Given the description of an element on the screen output the (x, y) to click on. 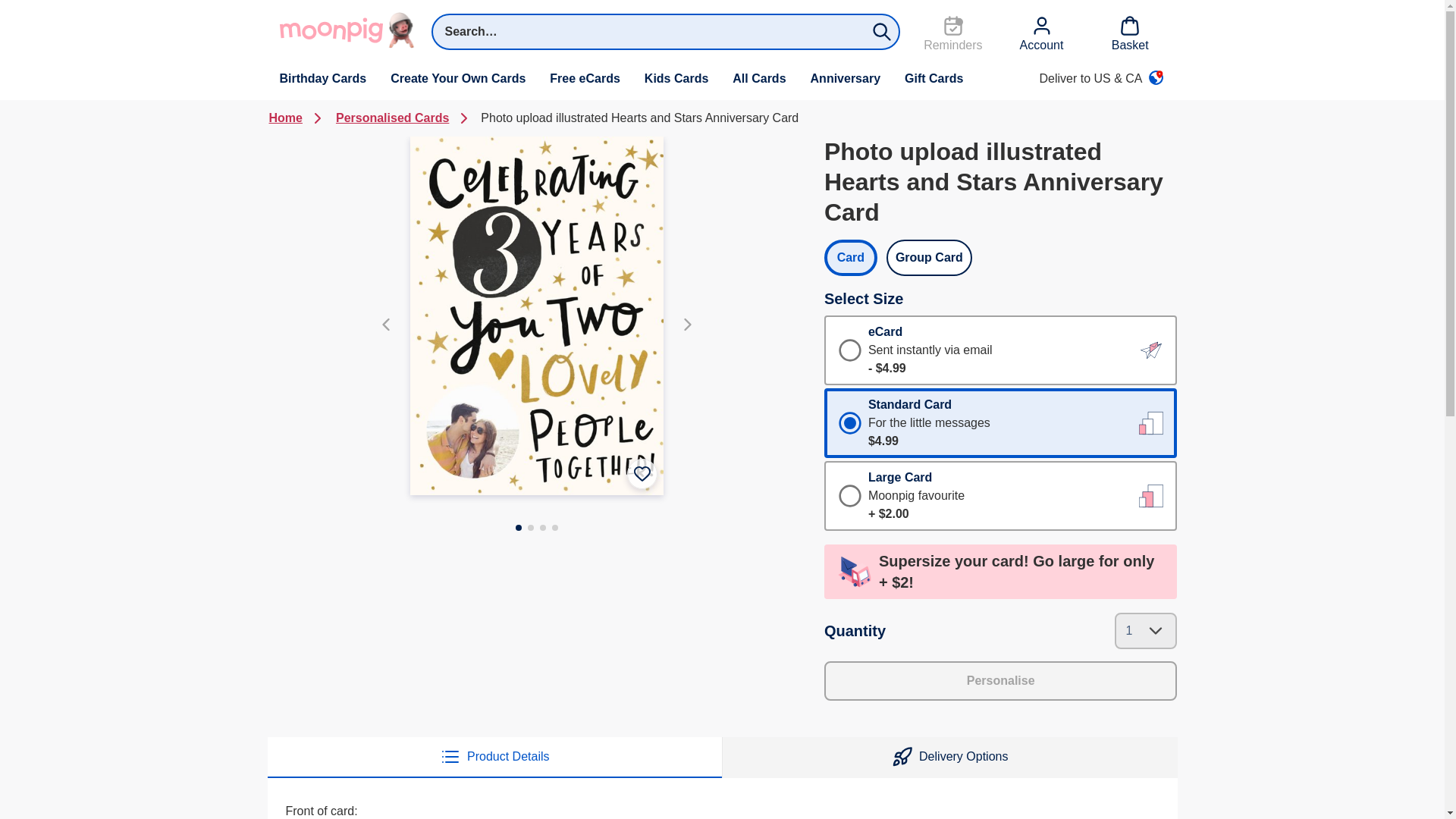
Open Birthday Cards dropdown (322, 78)
Reminders (952, 34)
Account (1041, 34)
5 (1000, 495)
Basket (1130, 34)
1 (1000, 423)
Go to Moonpig home (349, 30)
135 (1000, 350)
Skip to content (42, 12)
